Given the description of an element on the screen output the (x, y) to click on. 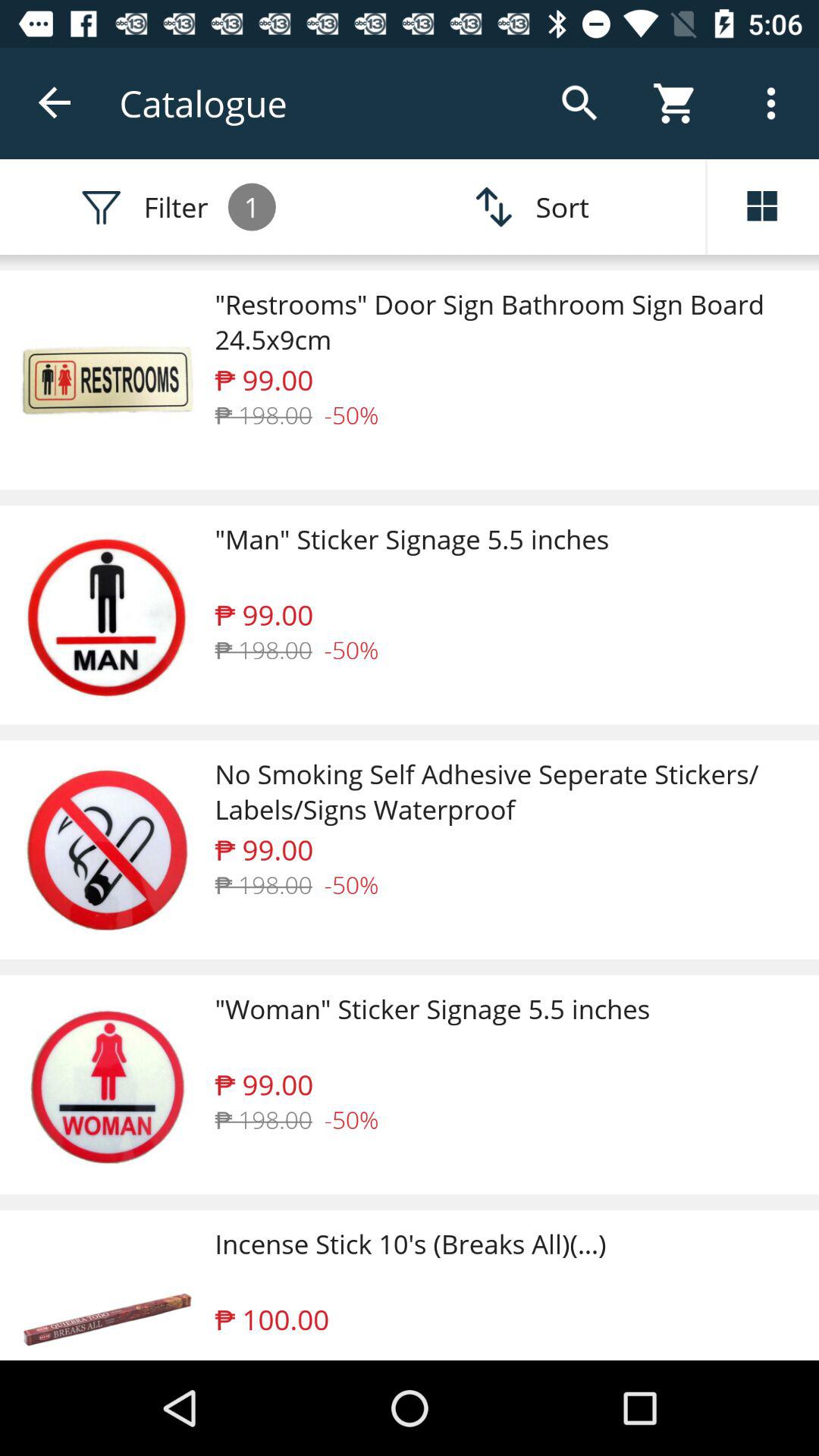
list view (763, 206)
